Given the description of an element on the screen output the (x, y) to click on. 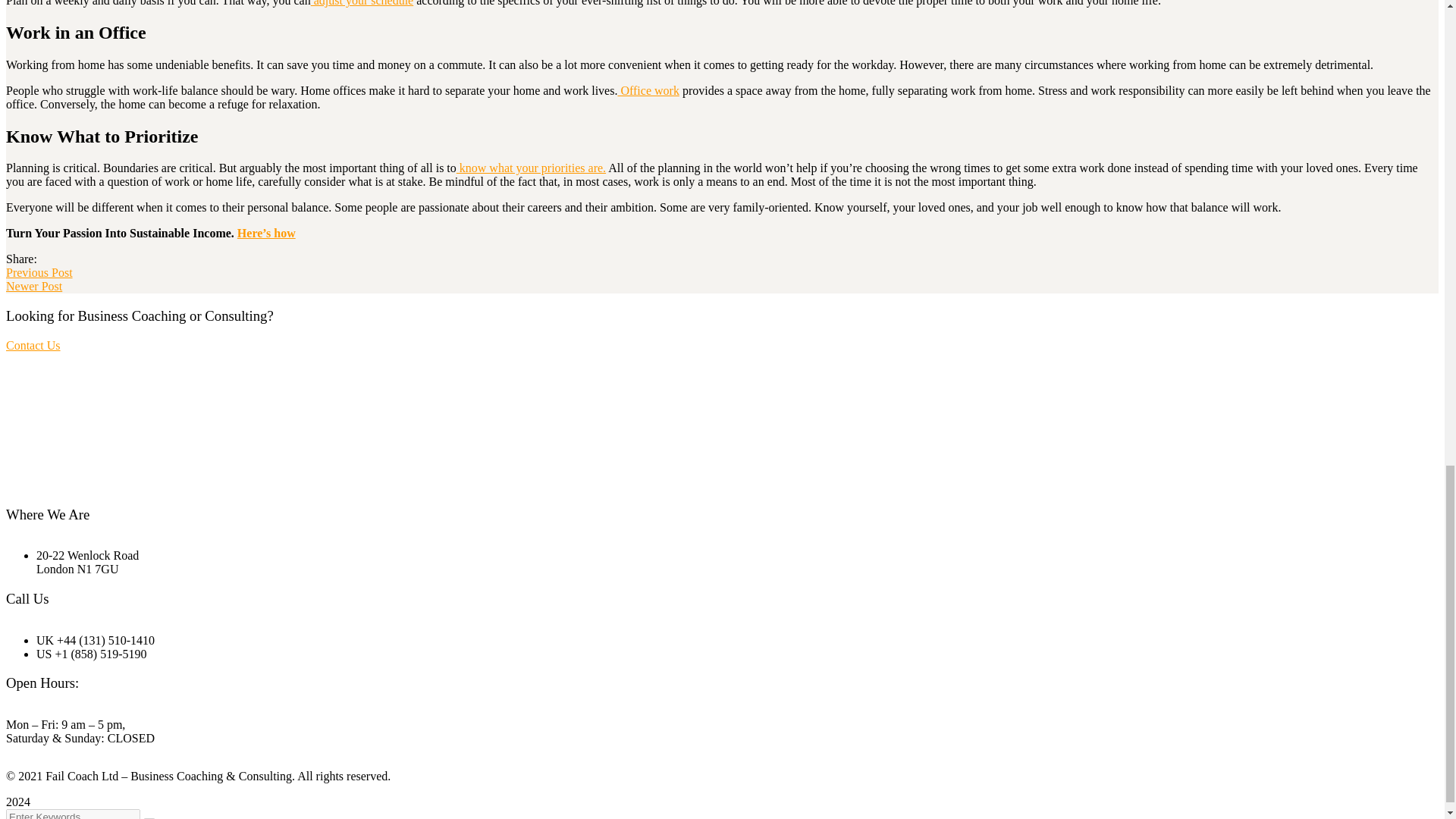
Office work (647, 90)
know what your priorities are. (531, 167)
adjust your schedule (362, 3)
